Given the description of an element on the screen output the (x, y) to click on. 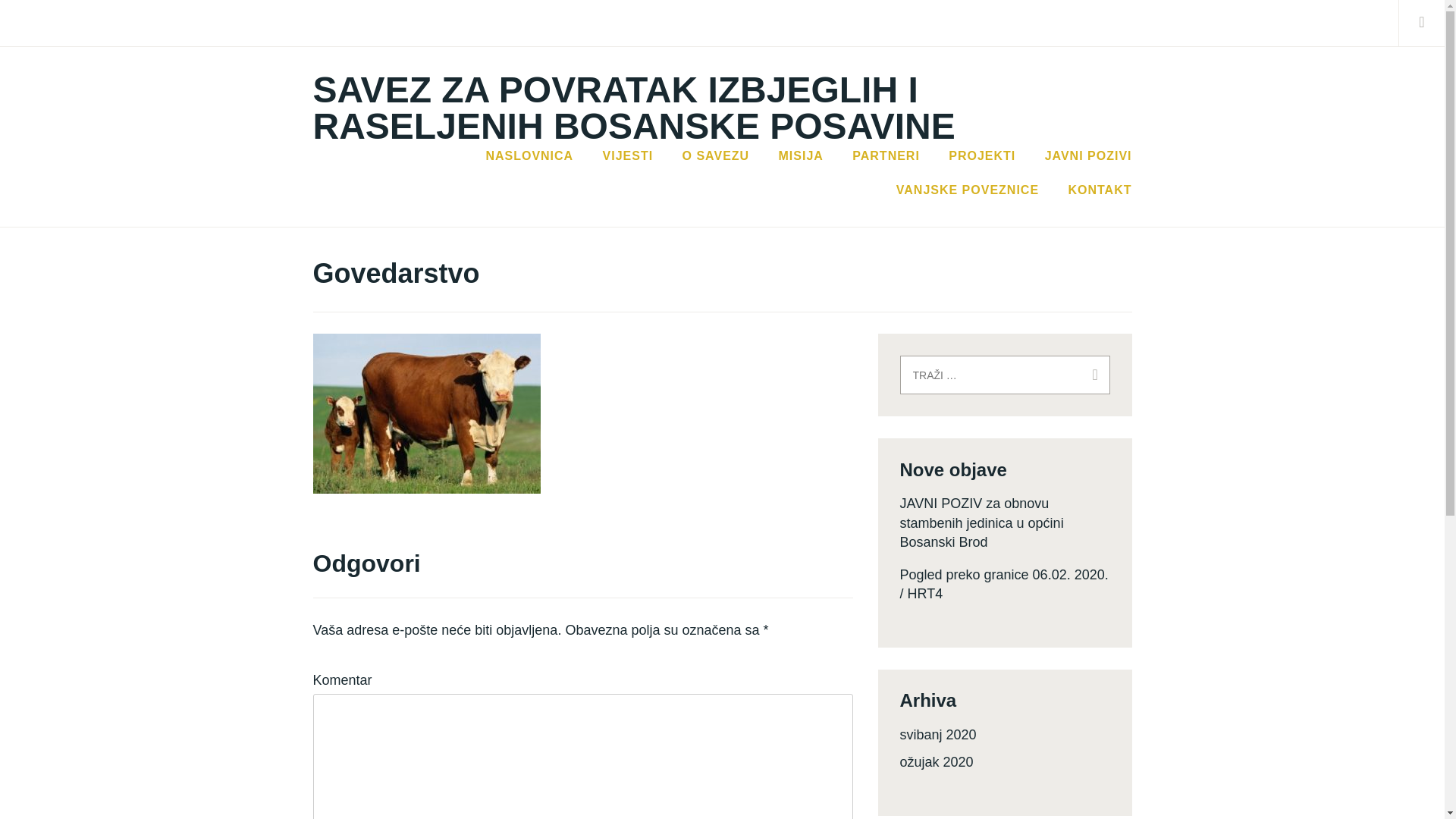
PARTNERI Element type: text (885, 155)
O SAVEZU Element type: text (715, 155)
Pogled preko granice 06.02. 2020. / HRT4 Element type: text (1003, 584)
JAVNI POZIVI Element type: text (1088, 155)
KONTAKT Element type: text (1099, 189)
NASLOVNICA Element type: text (529, 155)
svibanj 2020 Element type: text (937, 734)
PROJEKTI Element type: text (981, 155)
VIJESTI Element type: text (627, 155)
SAVEZ ZA POVRATAK IZBJEGLIH I RASELJENIH BOSANSKE POSAVINE Element type: text (633, 107)
VANJSKE POVEZNICE Element type: text (967, 189)
MISIJA Element type: text (800, 155)
